Given the description of an element on the screen output the (x, y) to click on. 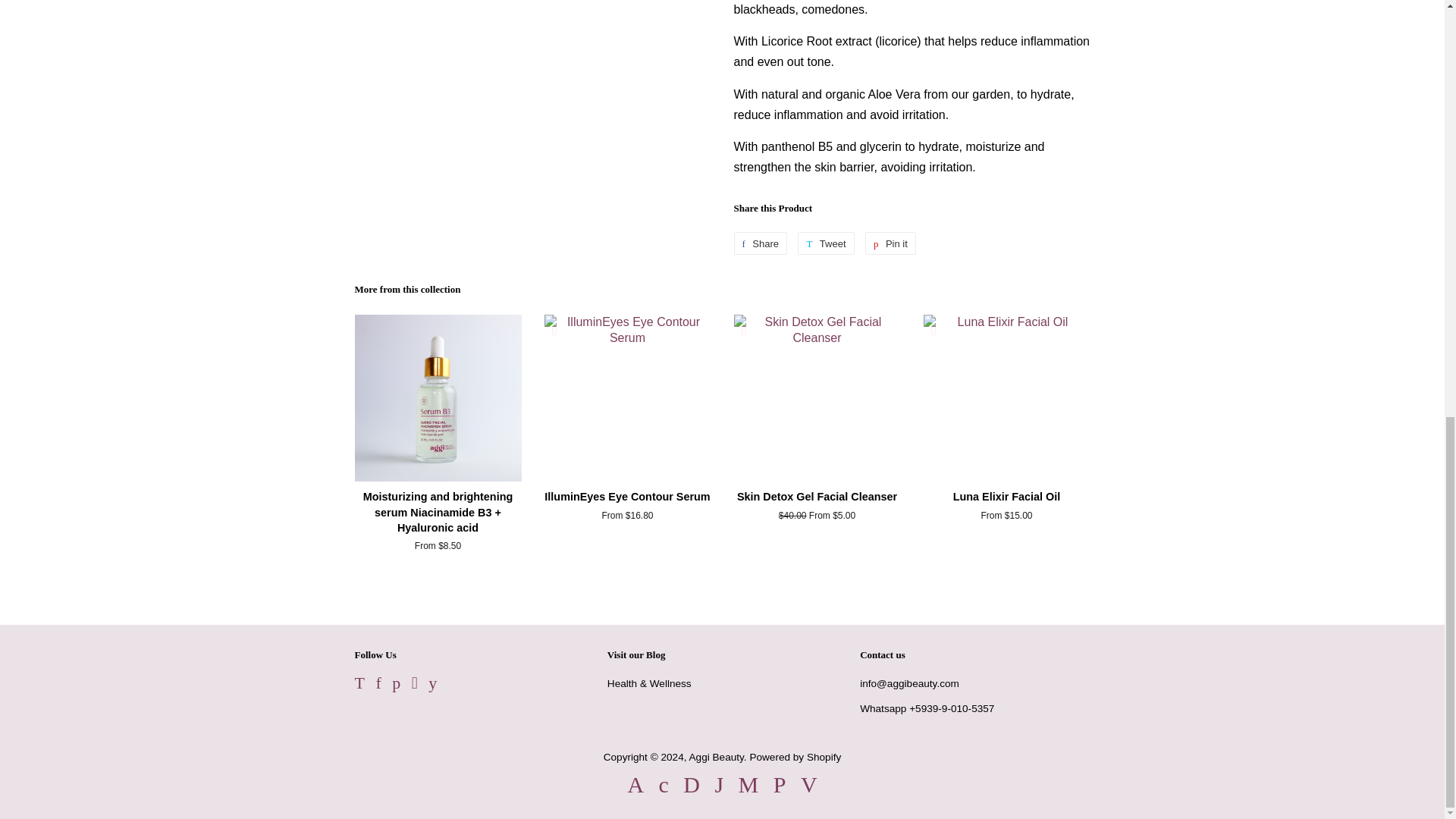
Tweet on Twitter (825, 242)
Pin on Pinterest (889, 242)
Share on Facebook (760, 242)
